Given the description of an element on the screen output the (x, y) to click on. 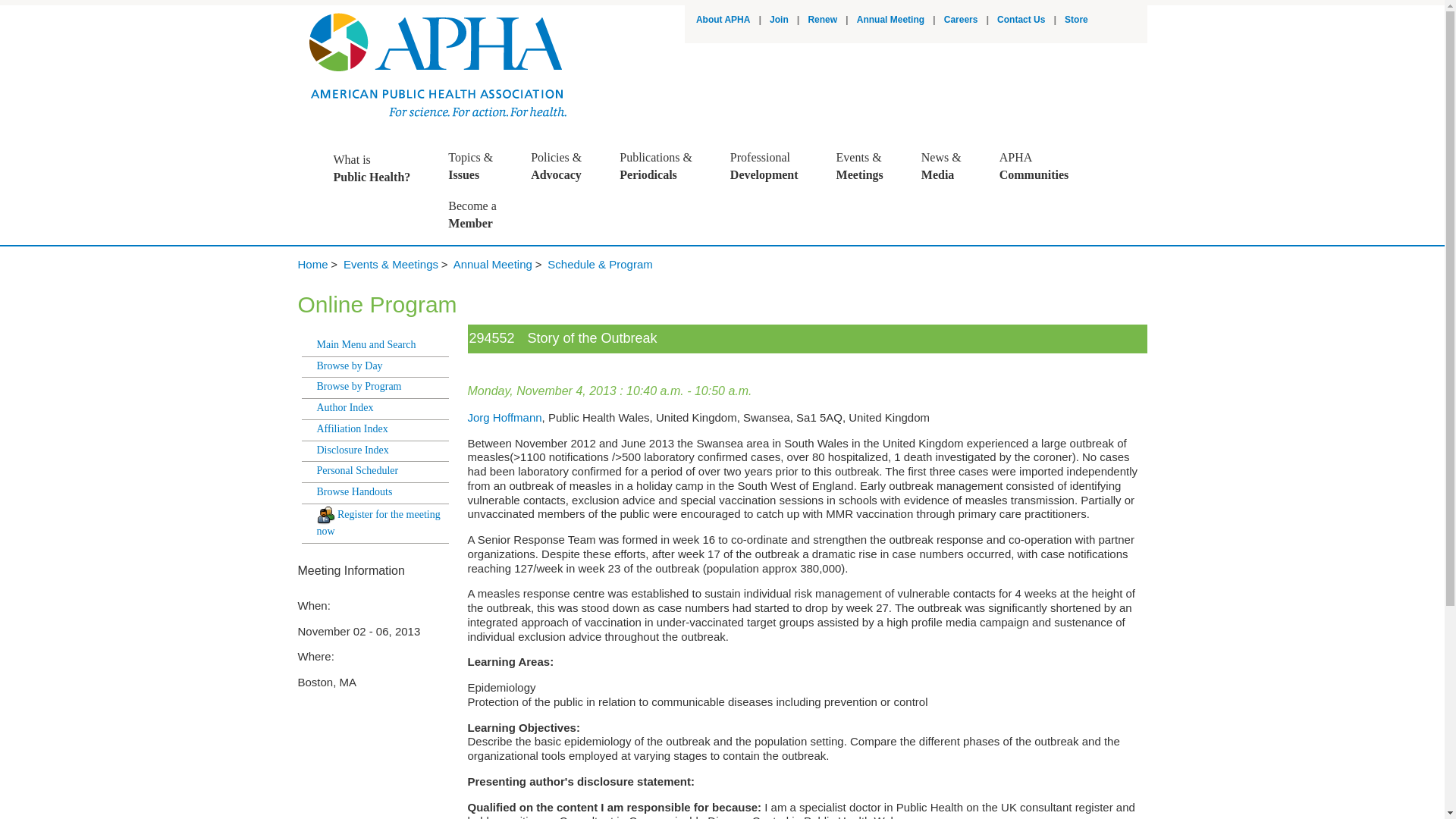
Contact Us (772, 166)
Join (1021, 19)
Renew (779, 19)
Annual Meeting (822, 19)
About APHA (890, 19)
Careers (723, 19)
Store (960, 19)
